Given the description of an element on the screen output the (x, y) to click on. 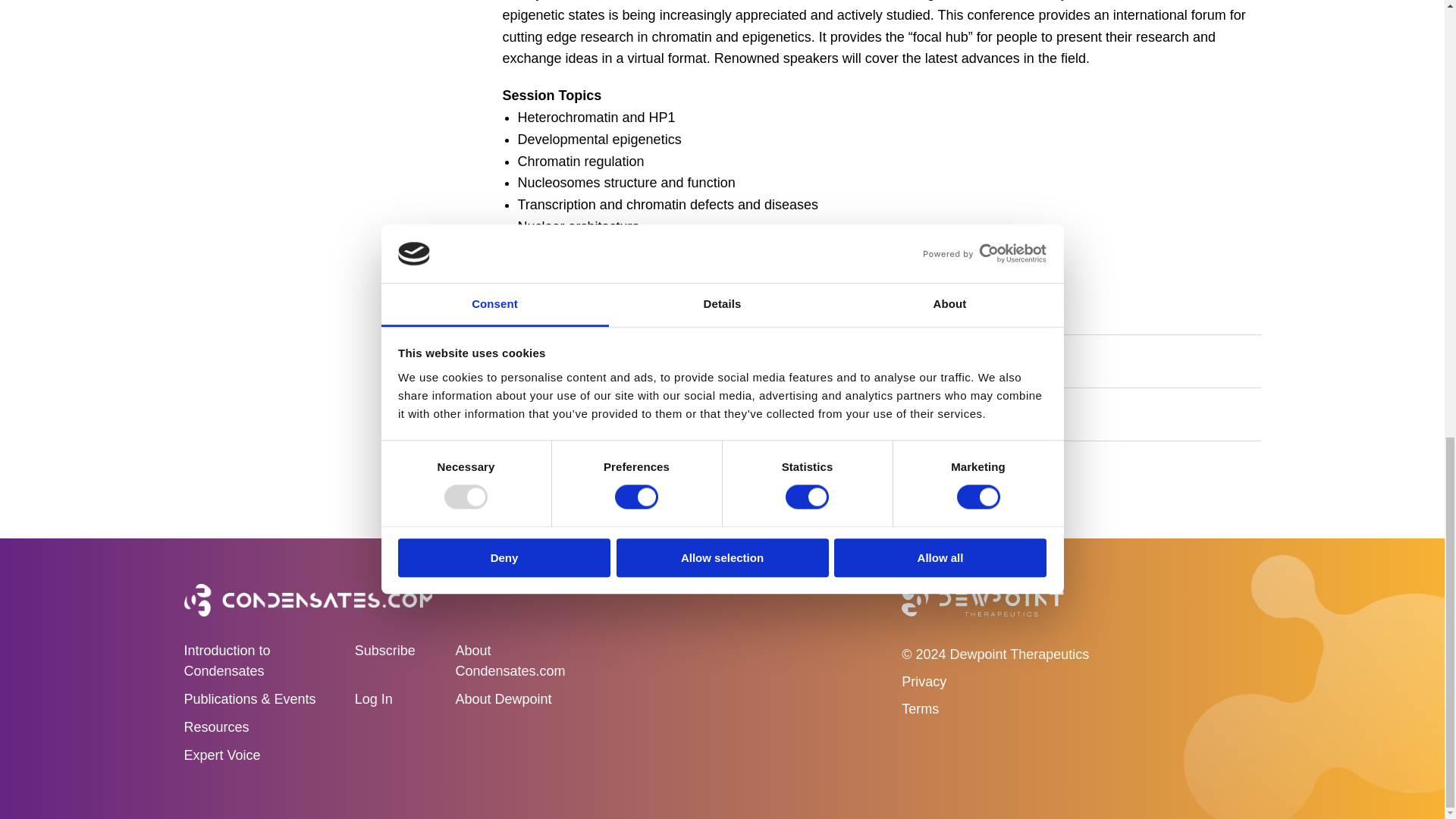
Add to Google Calendar (565, 293)
Download .ics file (694, 293)
